Given the description of an element on the screen output the (x, y) to click on. 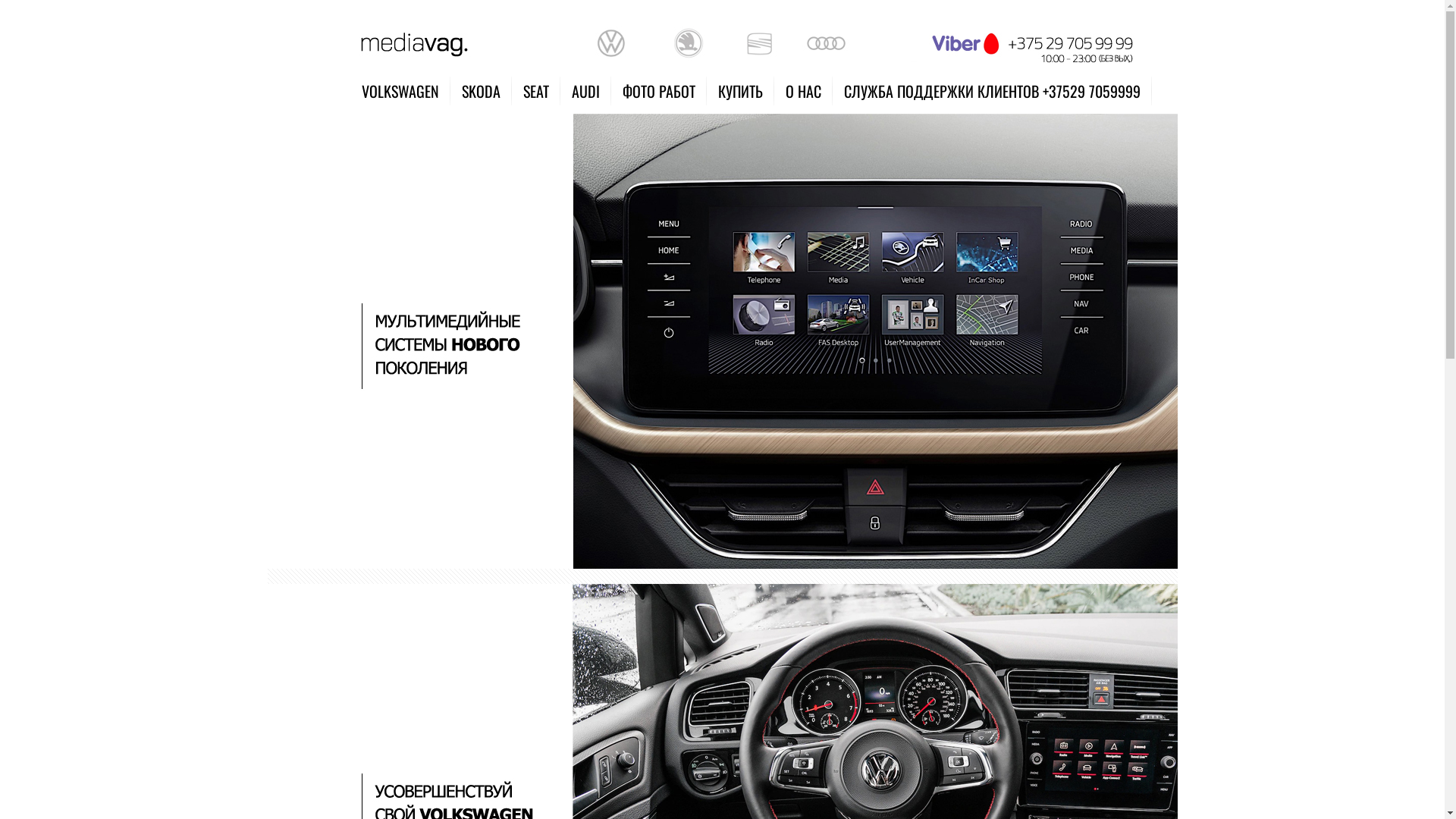
VOLKSWAGEN Element type: text (399, 90)
AUDI Element type: text (585, 90)
SEAT Element type: text (535, 90)
RCD 330 Plus Desay, Noname, Tianbao, 187A, 187B Element type: hover (721, 42)
SKODA Element type: text (480, 90)
